Given the description of an element on the screen output the (x, y) to click on. 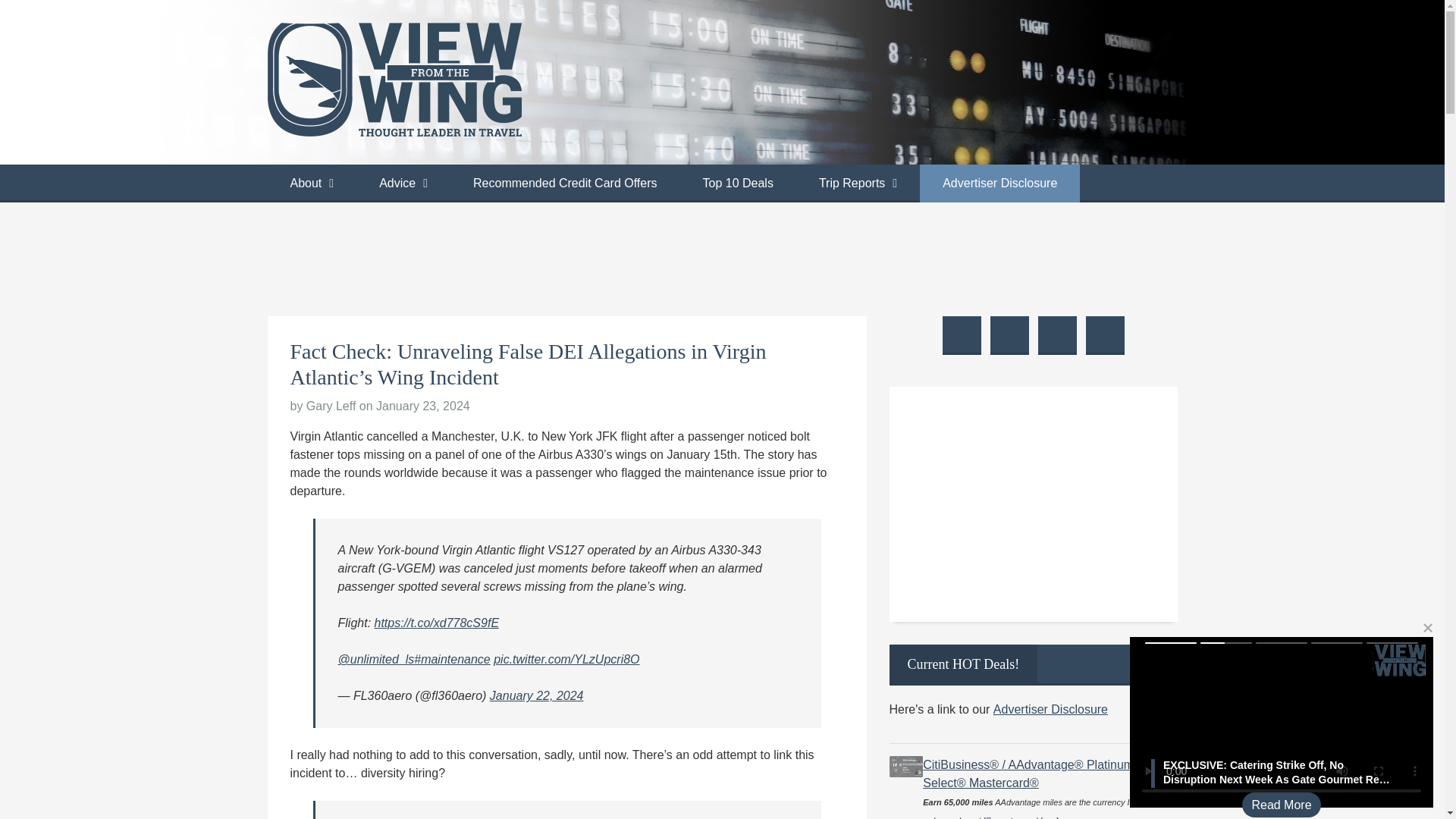
Advertiser Disclosure (1000, 183)
About (311, 183)
Recommended Credit Card Offers (564, 183)
Trip Reports (858, 183)
Top 10 Deals (736, 183)
Gary Leff (330, 405)
Advice (402, 183)
January 22, 2024 (536, 695)
